Given the description of an element on the screen output the (x, y) to click on. 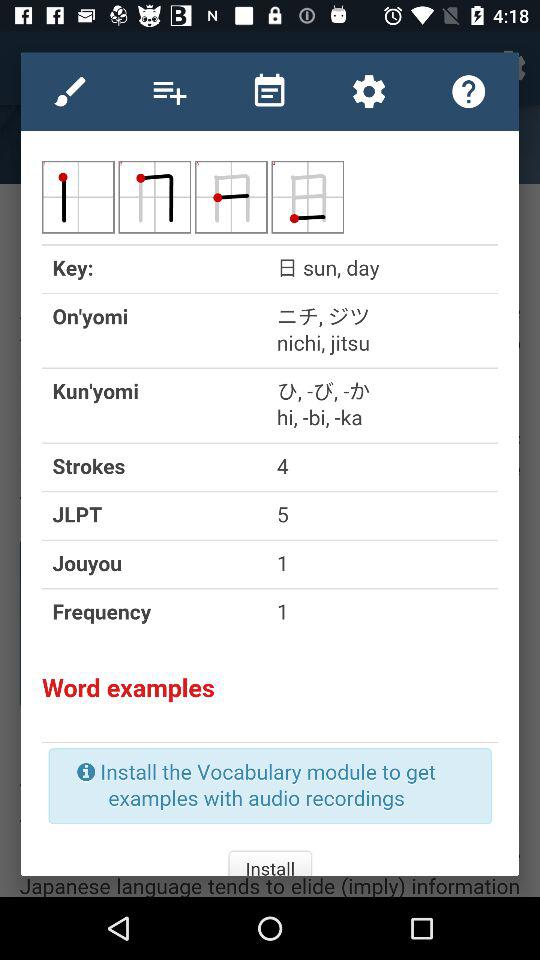
help (468, 91)
